Given the description of an element on the screen output the (x, y) to click on. 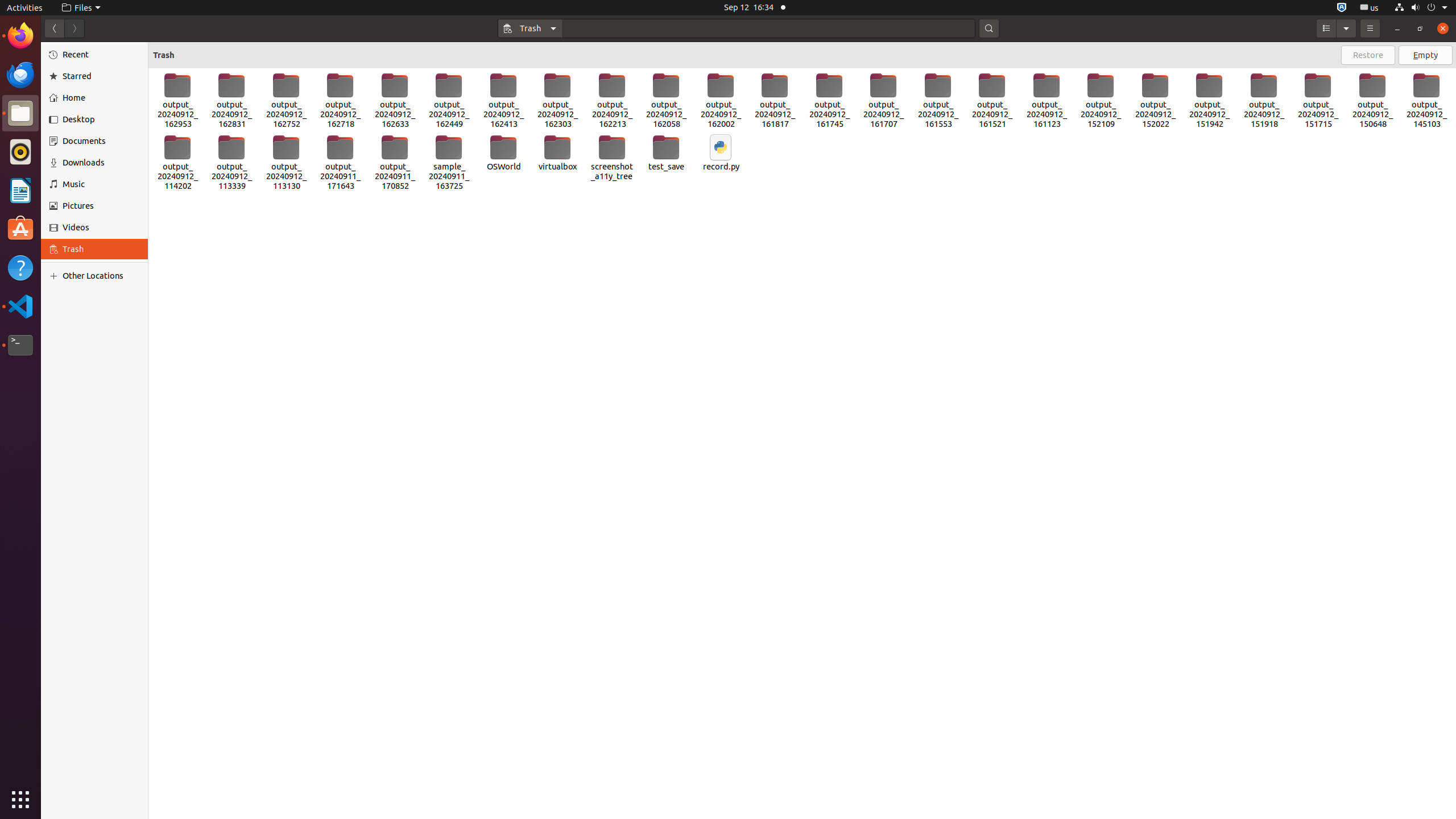
output_20240912_151918 Element type: canvas (1263, 100)
test_save Element type: canvas (666, 152)
output_20240912_162303 Element type: canvas (557, 100)
virtualbox Element type: canvas (557, 152)
